Given the description of an element on the screen output the (x, y) to click on. 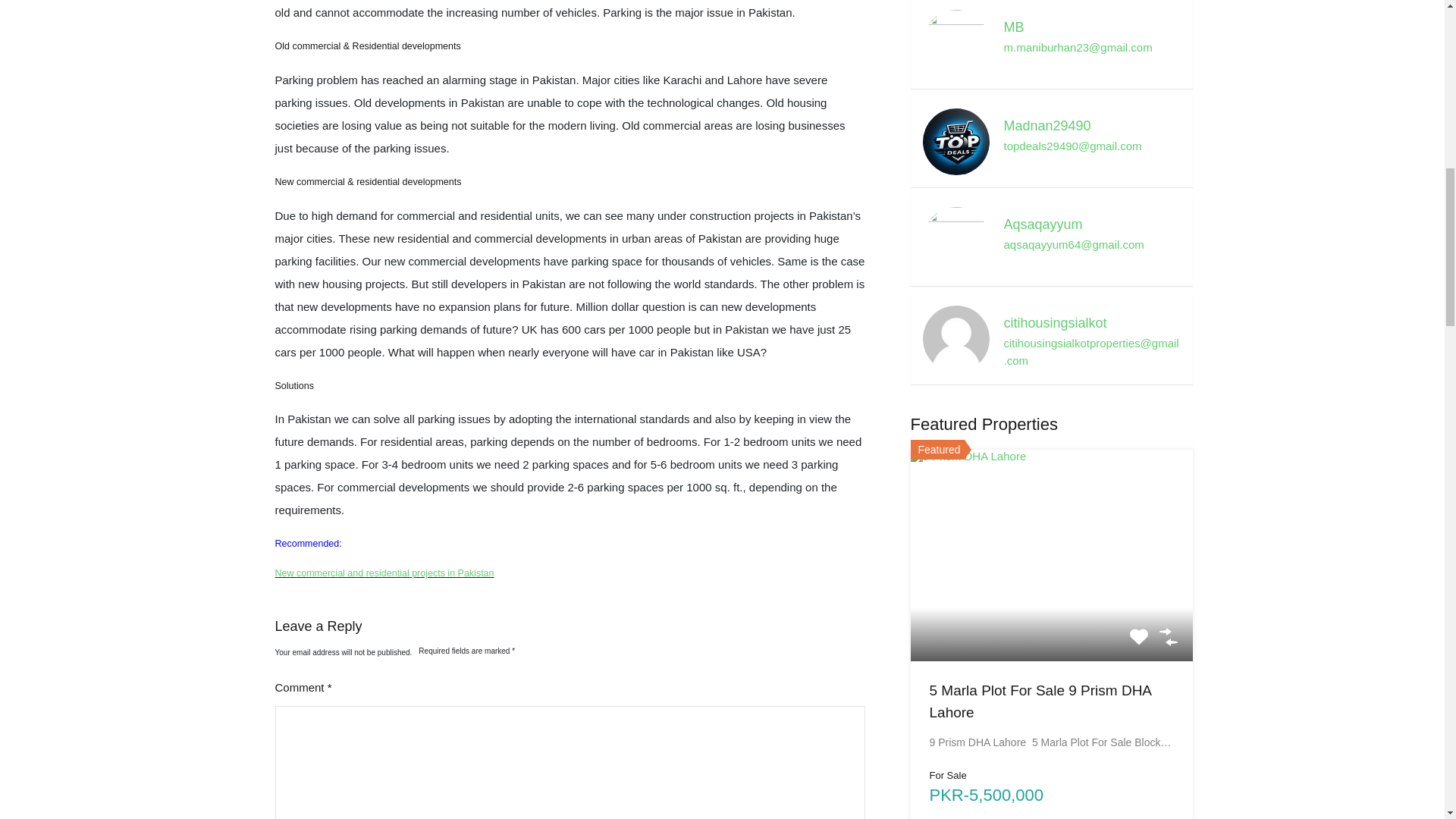
MB (954, 42)
Madnan29490 (954, 140)
citihousingsialkot (954, 337)
Aqsaqayyum (954, 238)
